Given the description of an element on the screen output the (x, y) to click on. 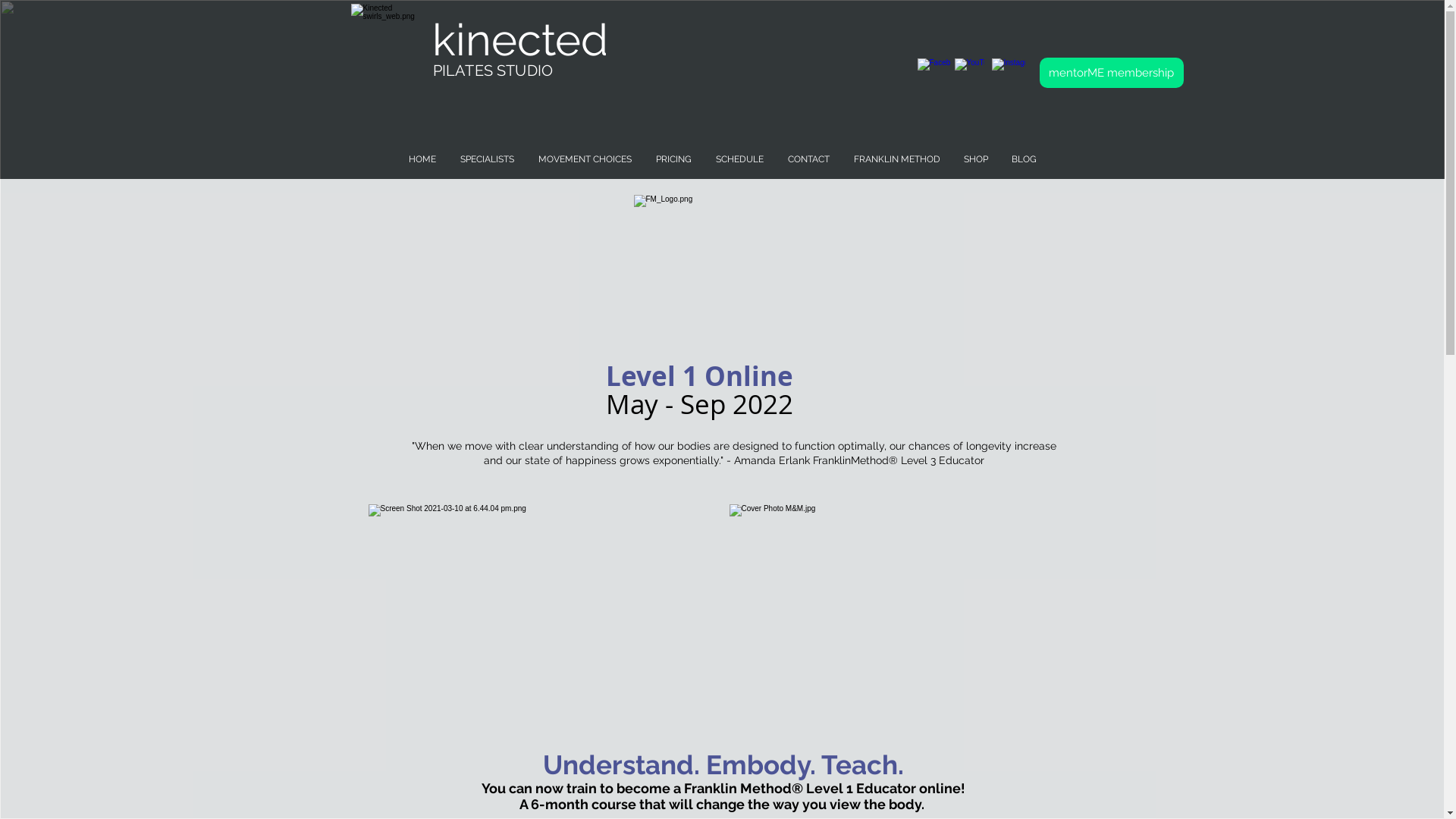
PRICING Element type: text (672, 159)
CONTACT Element type: text (807, 159)
FRANKLIN METHOD Element type: text (895, 159)
HOME Element type: text (421, 159)
SHOP Element type: text (974, 159)
BLOG Element type: text (1023, 159)
mentorME membership Element type: text (1110, 72)
SPECIALISTS Element type: text (486, 159)
SCHEDULE Element type: text (738, 159)
